Given the description of an element on the screen output the (x, y) to click on. 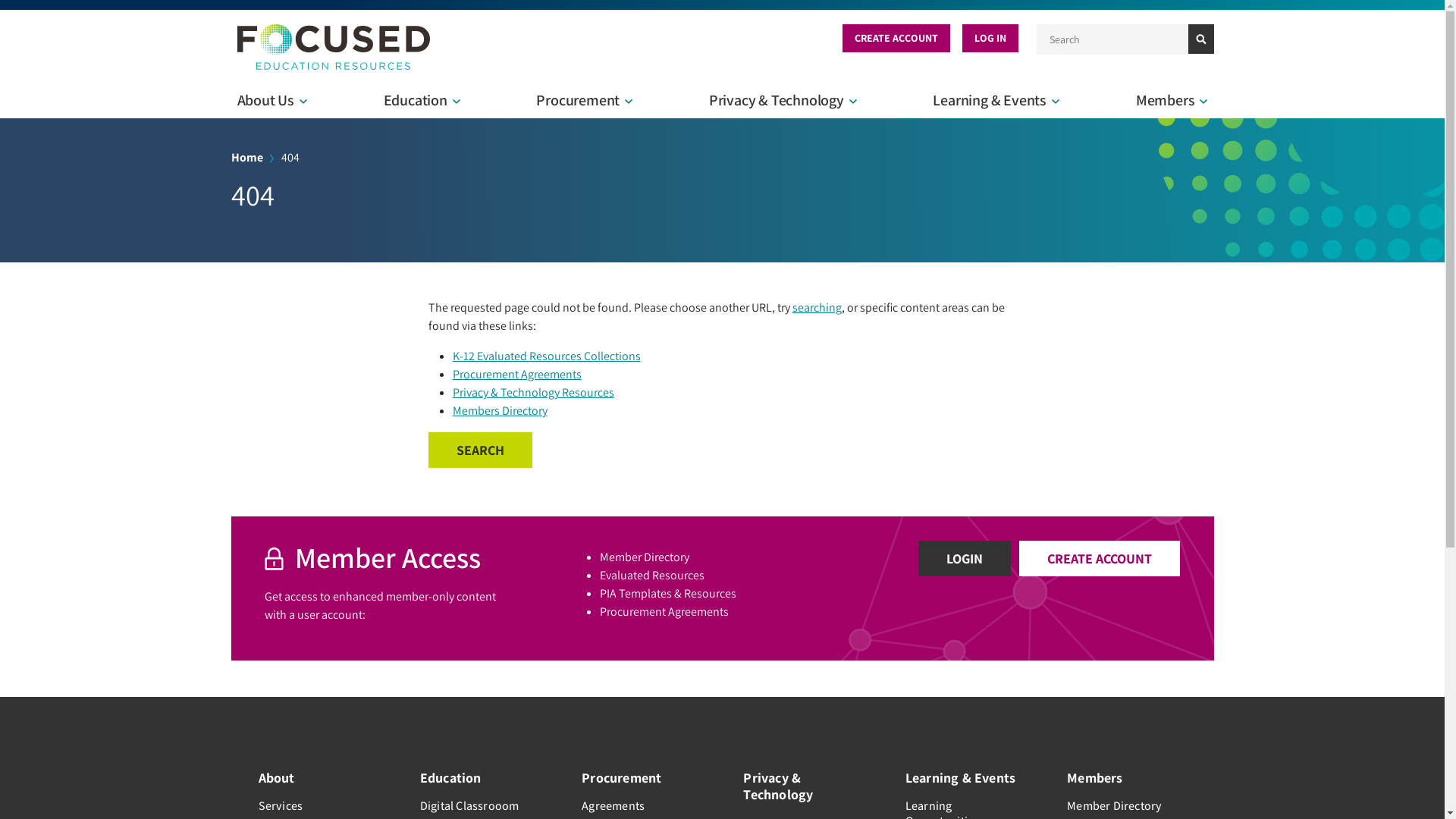
Procurement Agreements Element type: text (515, 374)
Search Element type: text (1200, 38)
Learning & Events Element type: text (964, 778)
CREATE ACCOUNT Element type: text (1099, 558)
Enter the terms you wish to search for. Element type: hover (1111, 39)
Privacy & Technology Resources Element type: text (532, 392)
Education Element type: text (479, 778)
SEARCH Element type: text (479, 449)
CREATE ACCOUNT Element type: text (895, 38)
Members Directory Element type: text (498, 410)
Procurement Element type: text (640, 778)
About Element type: text (317, 778)
LOG IN Element type: text (989, 38)
searching Element type: text (815, 307)
K-12 Evaluated Resources Collections Element type: text (545, 356)
LOGIN Element type: text (964, 558)
Home Element type: hover (333, 46)
Home Element type: text (246, 157)
Members Element type: text (1126, 778)
